Given the description of an element on the screen output the (x, y) to click on. 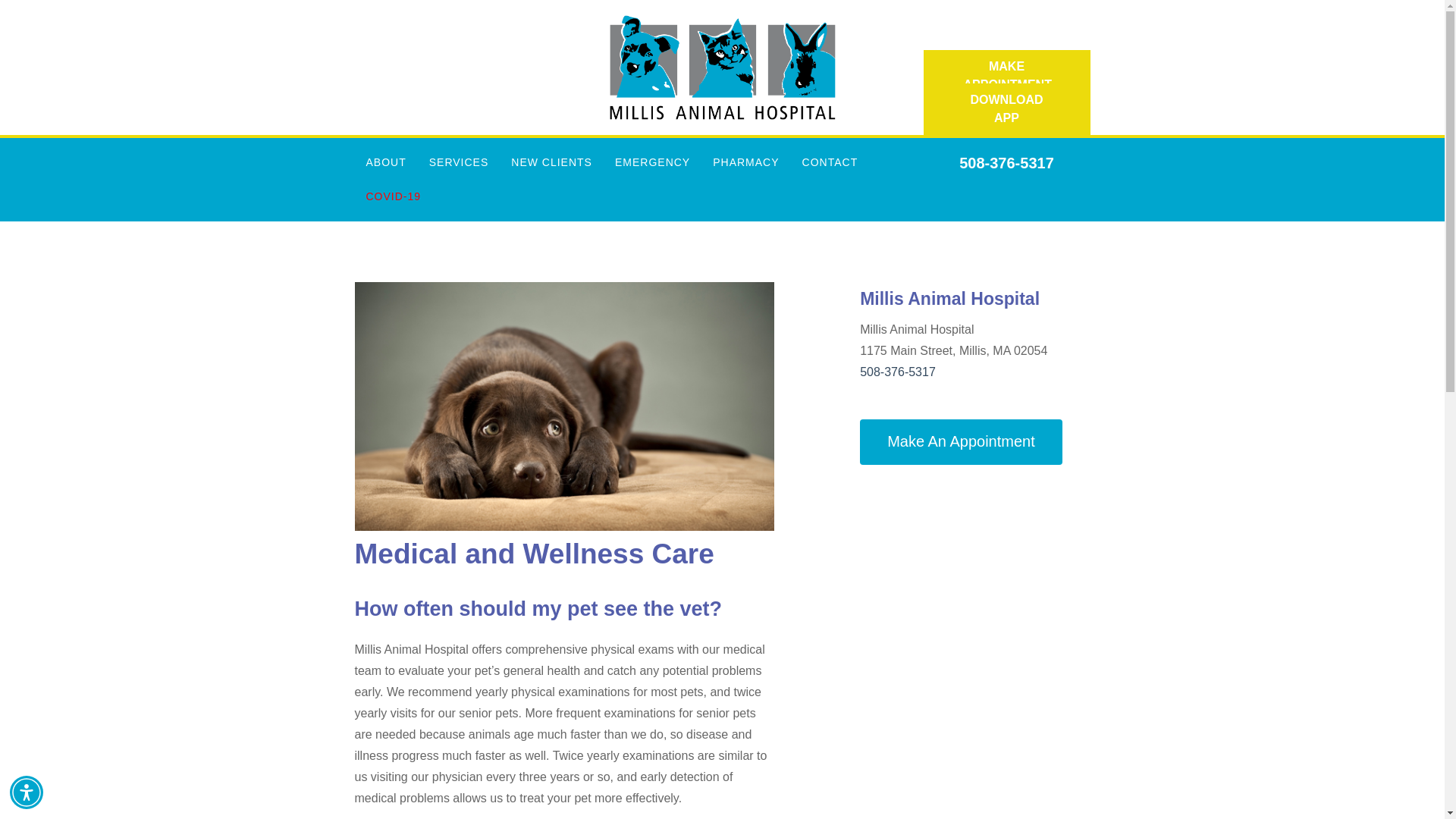
PHARMACY (454, 401)
CAREERS (382, 196)
SERVICES (458, 162)
NEW CLIENT FORM (547, 230)
Accessibility Menu (26, 792)
MICROCHIPPING (454, 333)
CONTACT (829, 162)
DENTAL CARE (454, 196)
DOWNLOAD APP (1006, 109)
SURGERY (454, 469)
ABOUT (386, 162)
PHARMACY (745, 162)
APPOINTMENTS (825, 196)
WHAT TO EXPECT (547, 196)
HOSPITAL POLICIES (382, 298)
